Given the description of an element on the screen output the (x, y) to click on. 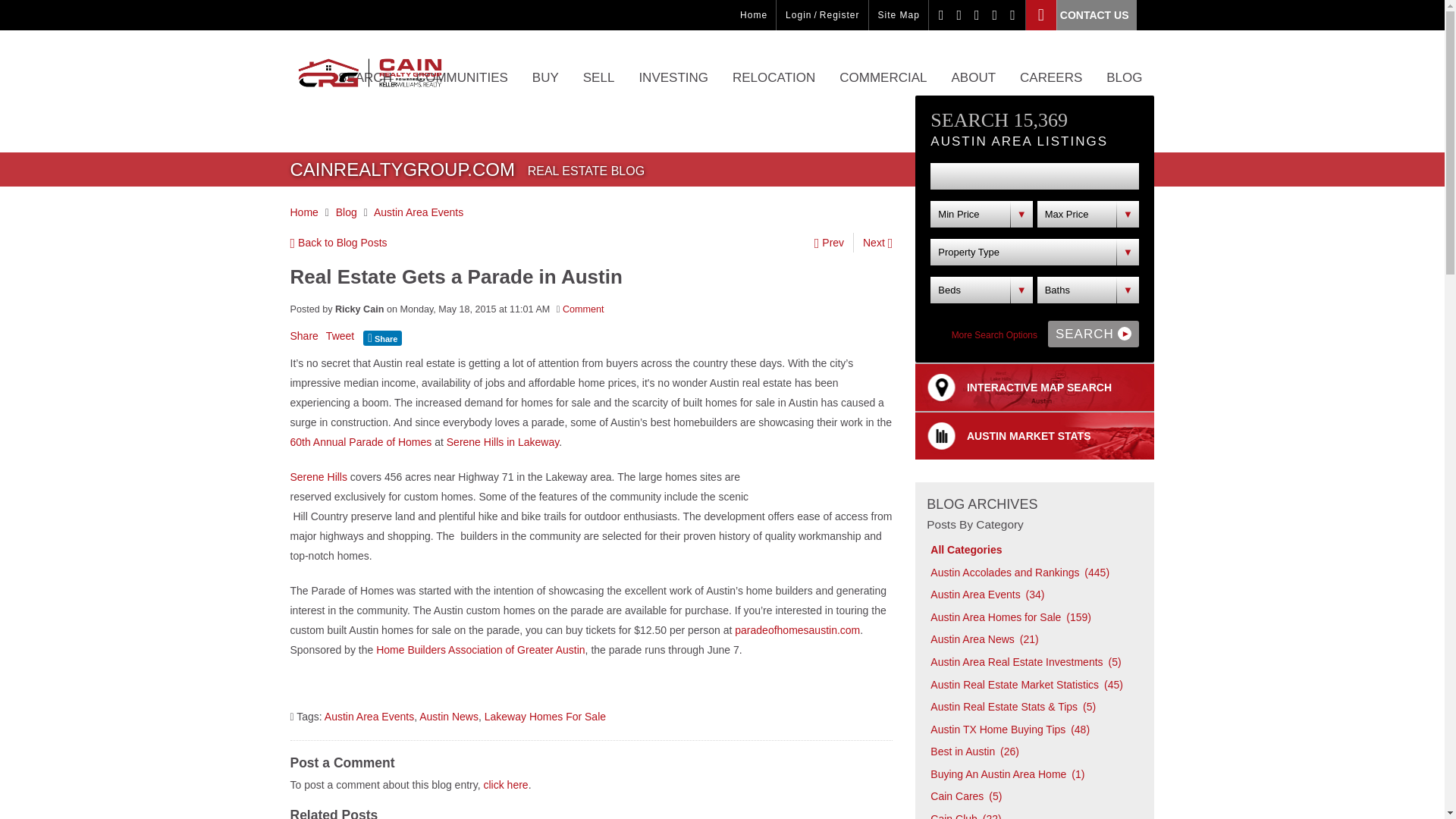
Register (839, 14)
COMMUNITIES (461, 89)
Site Map (898, 14)
SEARCH (365, 89)
Home (753, 14)
CONTACT US (1081, 15)
